Given the description of an element on the screen output the (x, y) to click on. 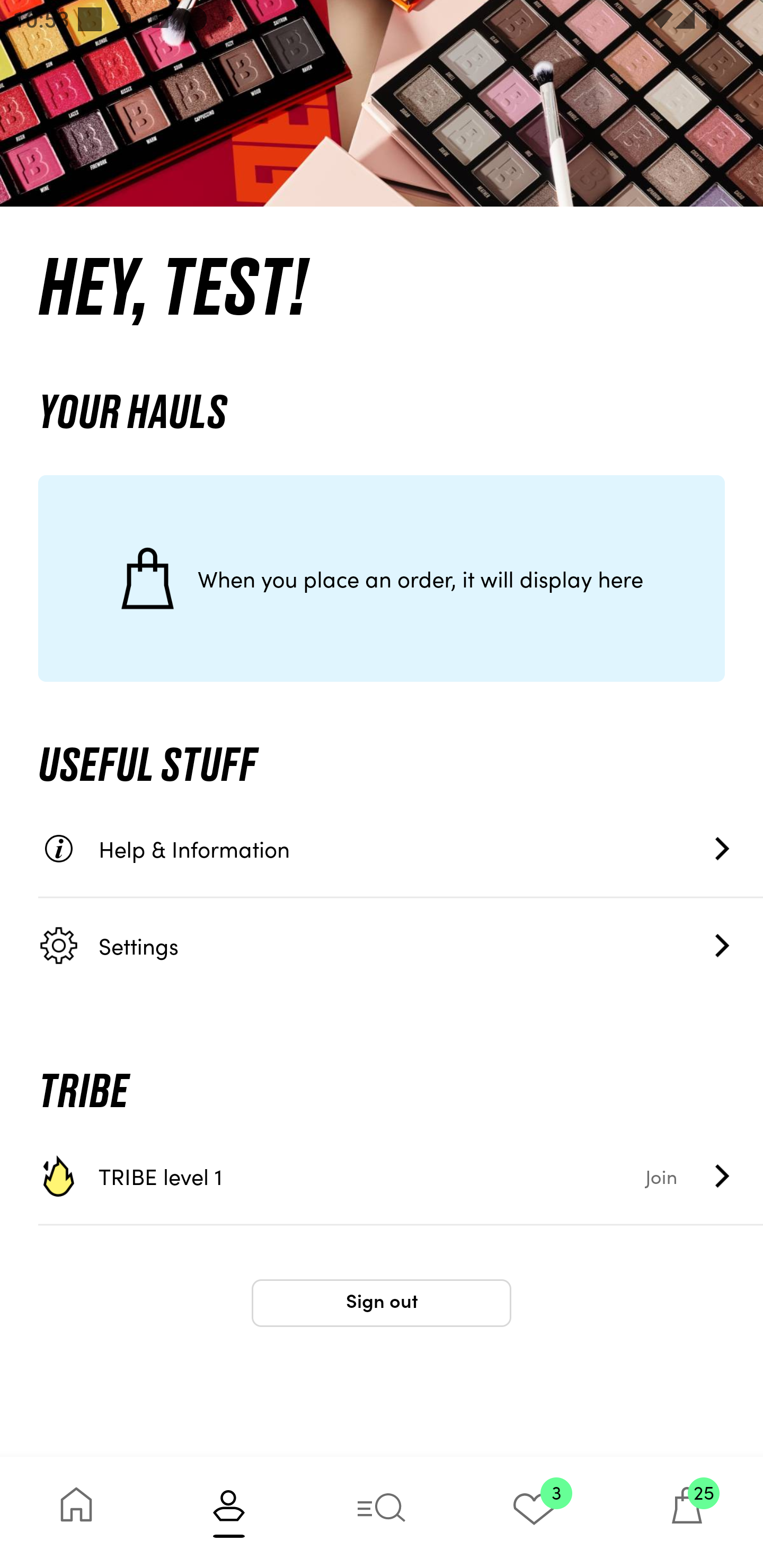
Help & Information (400, 848)
Settings (400, 945)
TRIBE level 1 Join (400, 1175)
Sign out (381, 1302)
3 (533, 1512)
25 (686, 1512)
